Given the description of an element on the screen output the (x, y) to click on. 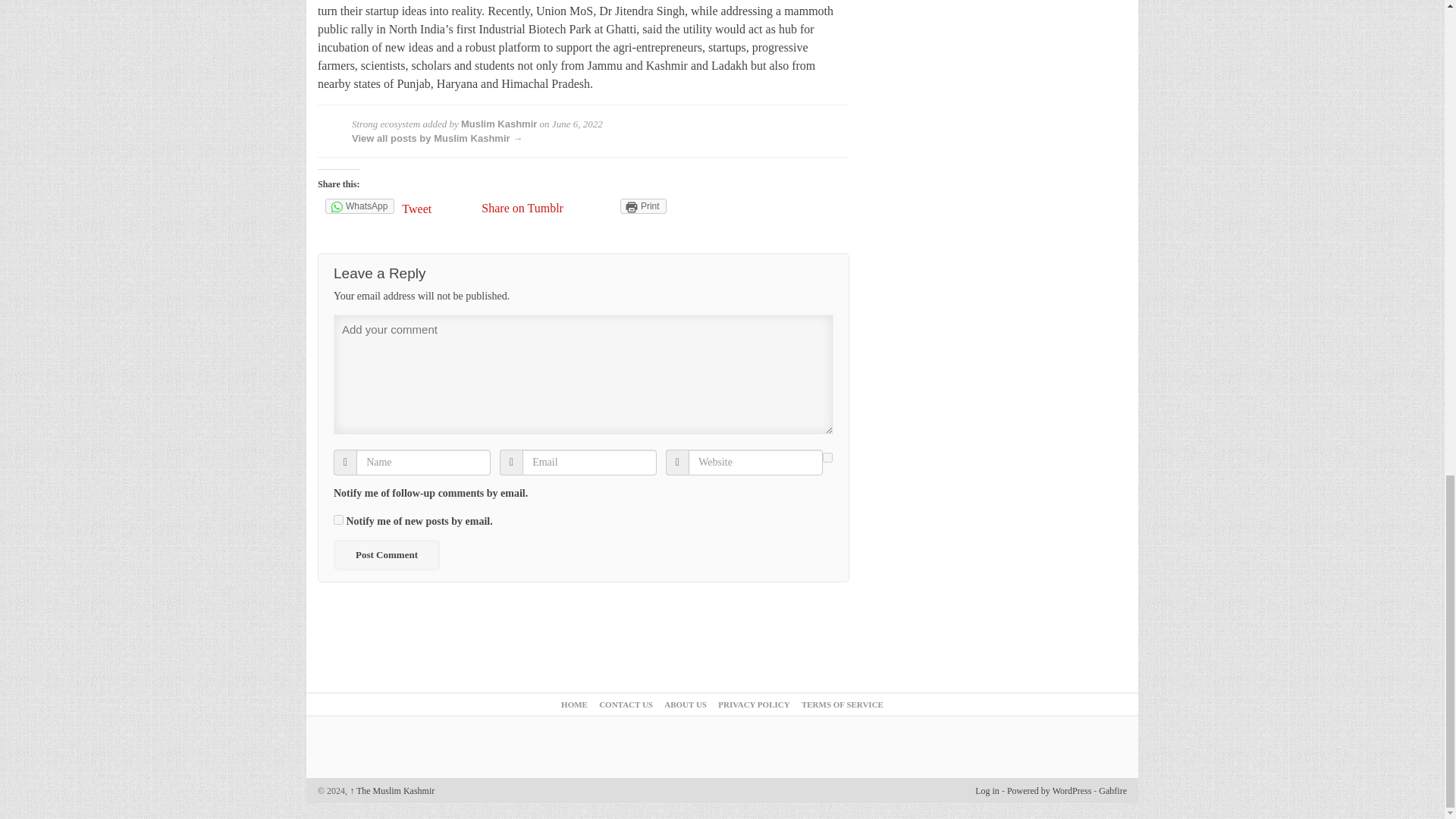
Post Comment (386, 554)
Share on Tumblr (522, 207)
subscribe (338, 519)
TERMS OF SERVICE (842, 704)
subscribe (827, 457)
Tweet (437, 208)
CONTACT US (625, 704)
Gabfire (1112, 790)
ABOUT US (684, 704)
WhatsApp (359, 206)
